Given the description of an element on the screen output the (x, y) to click on. 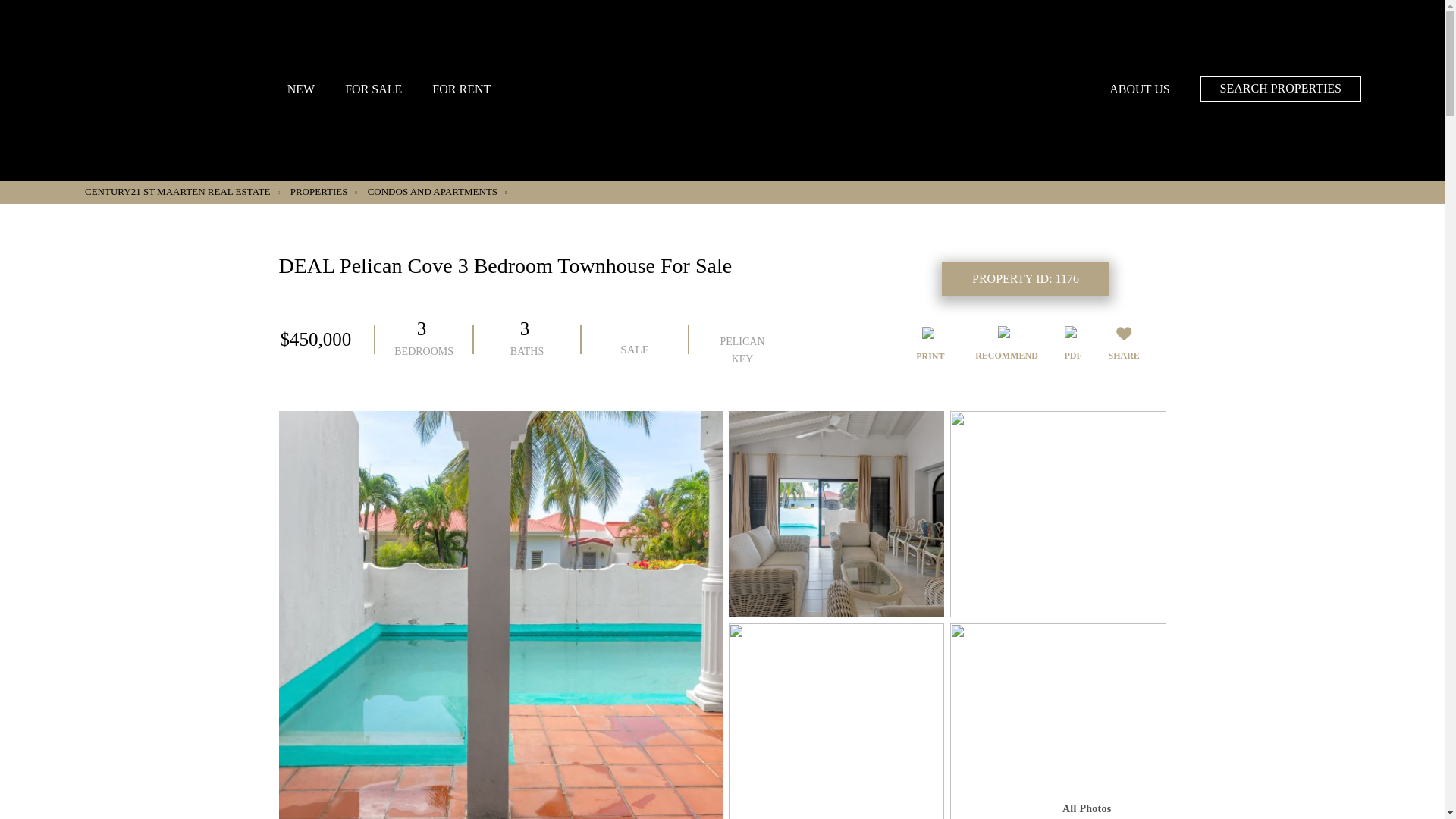
SALE (633, 339)
Go to Properties. (322, 191)
PELICAN KEY (741, 340)
FOR RENT (461, 89)
All Photos (1086, 806)
Go to Century21 St Maarten Real Estate. (181, 191)
NEW (300, 89)
Go to the Condos and Apartments Property Type archives. (437, 191)
SEARCH PROPERTIES (1280, 88)
ABOUT US (1139, 89)
CONDOS AND APARTMENTS (437, 191)
PRINT (930, 345)
FOR SALE (373, 89)
PROPERTIES (322, 191)
CENTURY21 ST MAARTEN REAL ESTATE (181, 191)
